Given the description of an element on the screen output the (x, y) to click on. 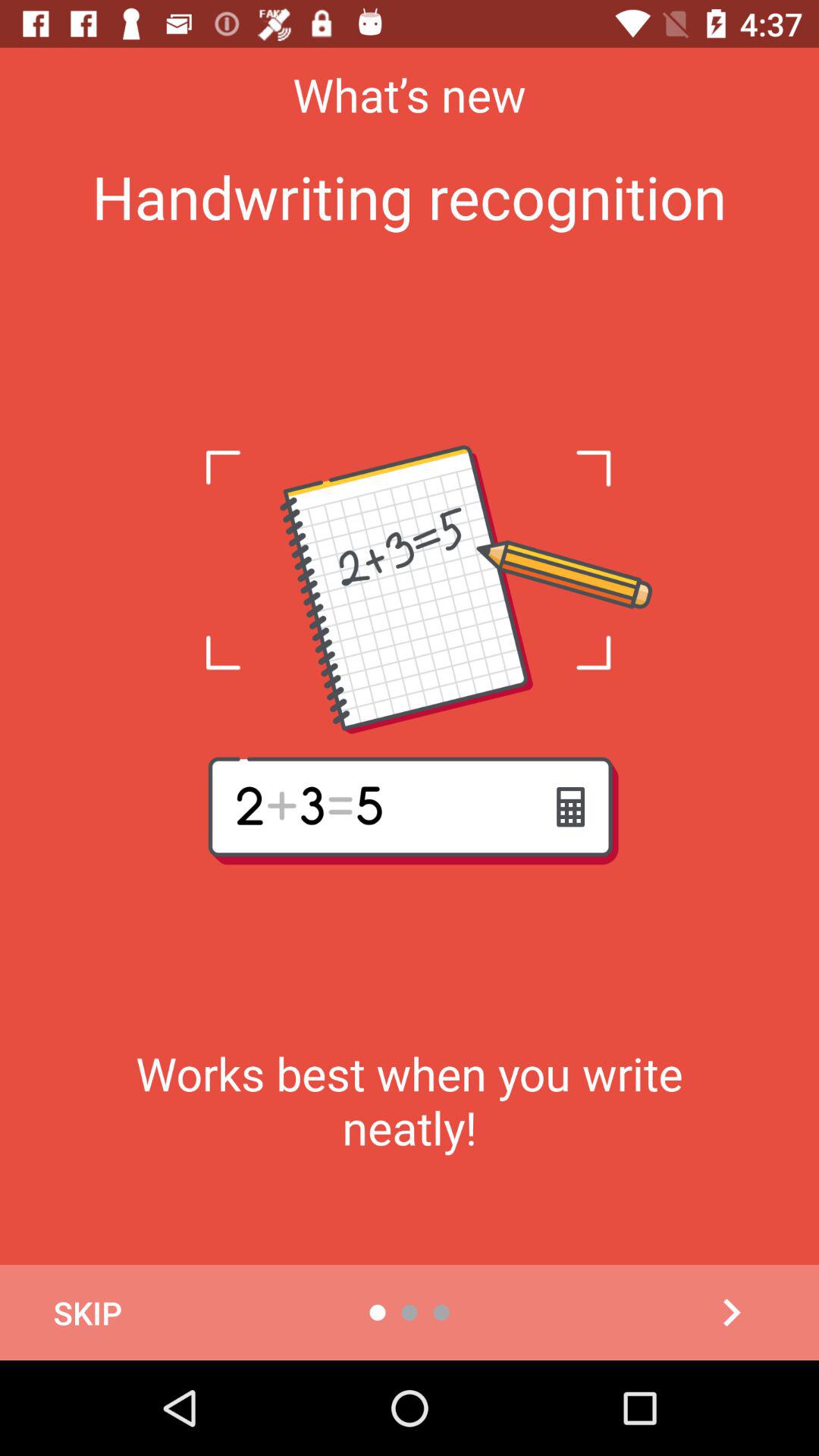
it is go to next page element (731, 1312)
